Given the description of an element on the screen output the (x, y) to click on. 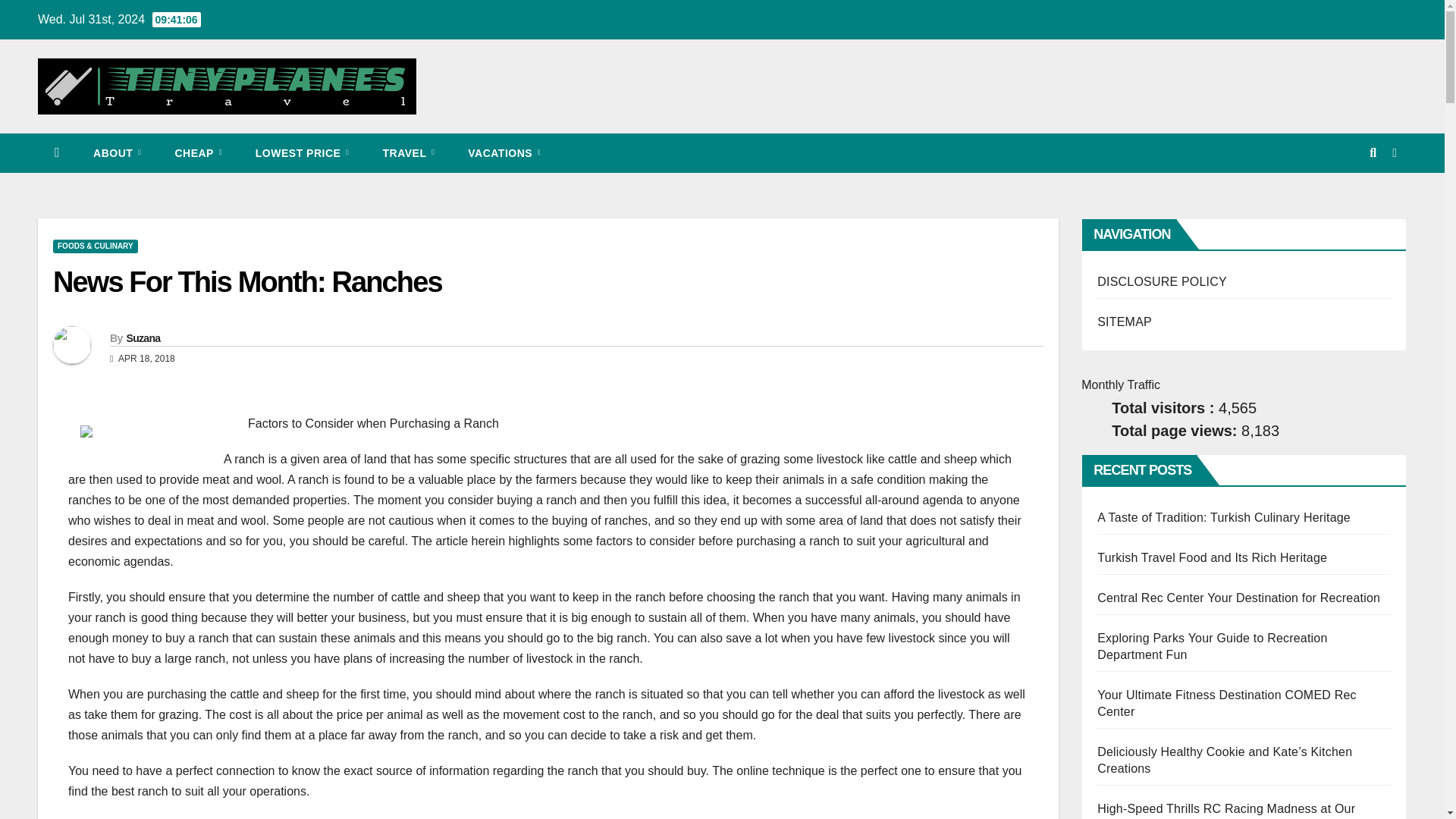
LOWEST PRICE (302, 152)
Lowest Price (302, 152)
CHEAP (197, 152)
TRAVEL (408, 152)
VACATIONS (504, 152)
Cheap (197, 152)
About (117, 152)
ABOUT (117, 152)
